Given the description of an element on the screen output the (x, y) to click on. 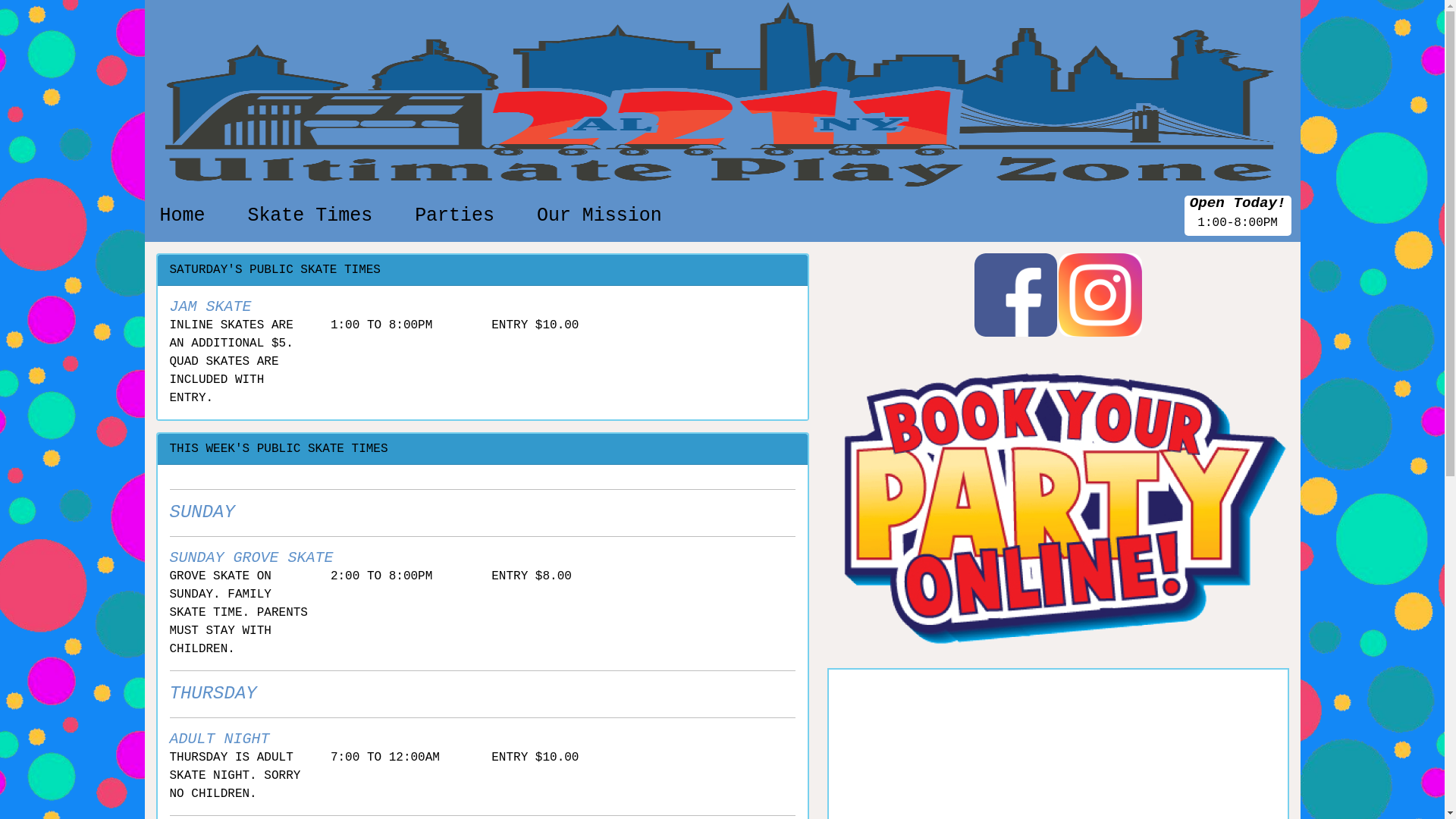
Parties Element type: text (454, 215)
Skate Times Element type: text (309, 215)
Home Element type: text (181, 215)
Open Today!
1:00-8:00PM Element type: text (1237, 215)
Open Today! Element type: text (1237, 203)
Our Mission Element type: text (599, 215)
